Given the description of an element on the screen output the (x, y) to click on. 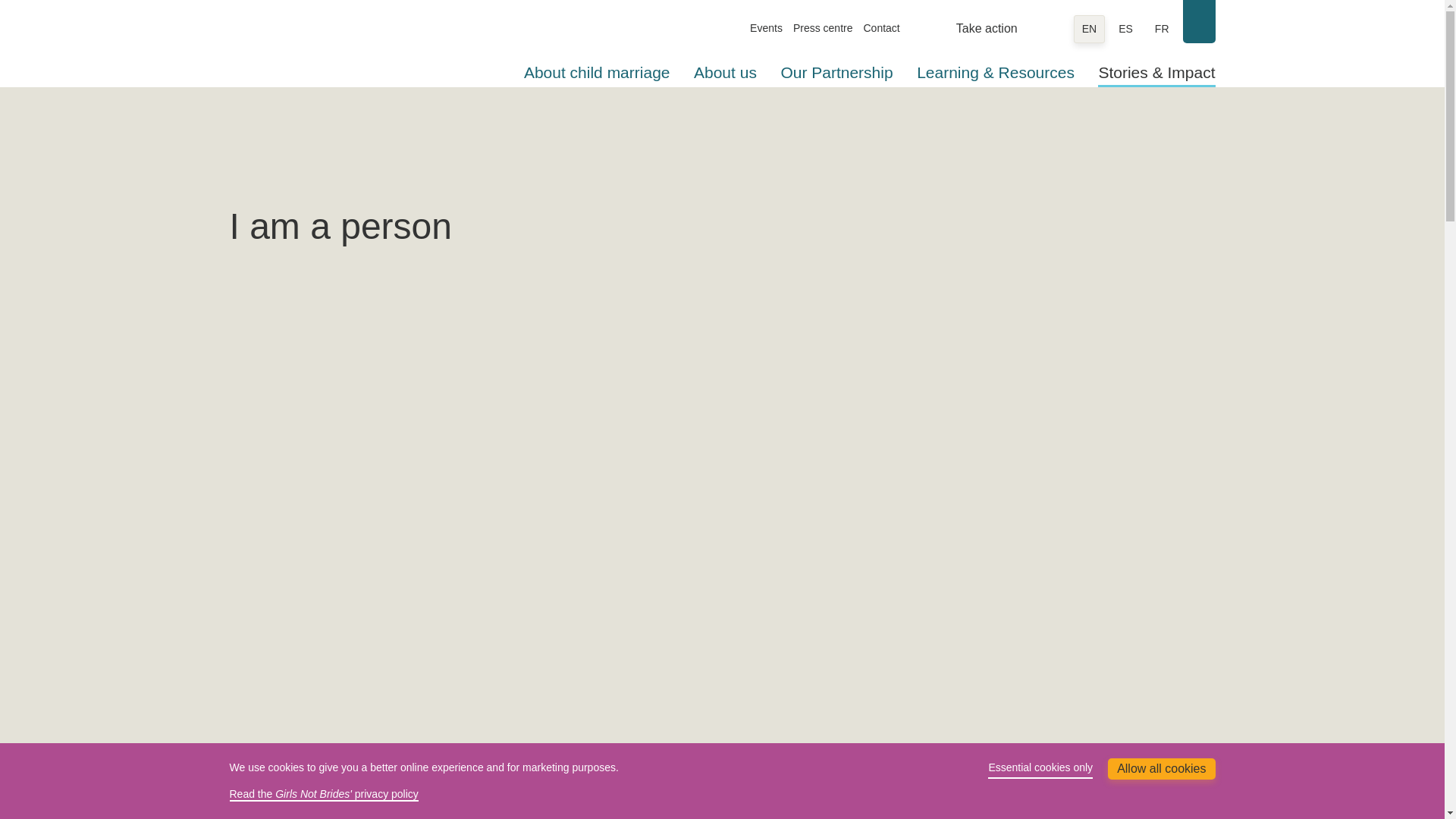
FR (1162, 29)
EN (1089, 29)
About child marriage (596, 72)
ES (1125, 29)
Contact (881, 28)
Events (766, 28)
About us (725, 72)
Press centre (823, 28)
Our Partnership (836, 72)
Girls Not Brides (307, 46)
